Given the description of an element on the screen output the (x, y) to click on. 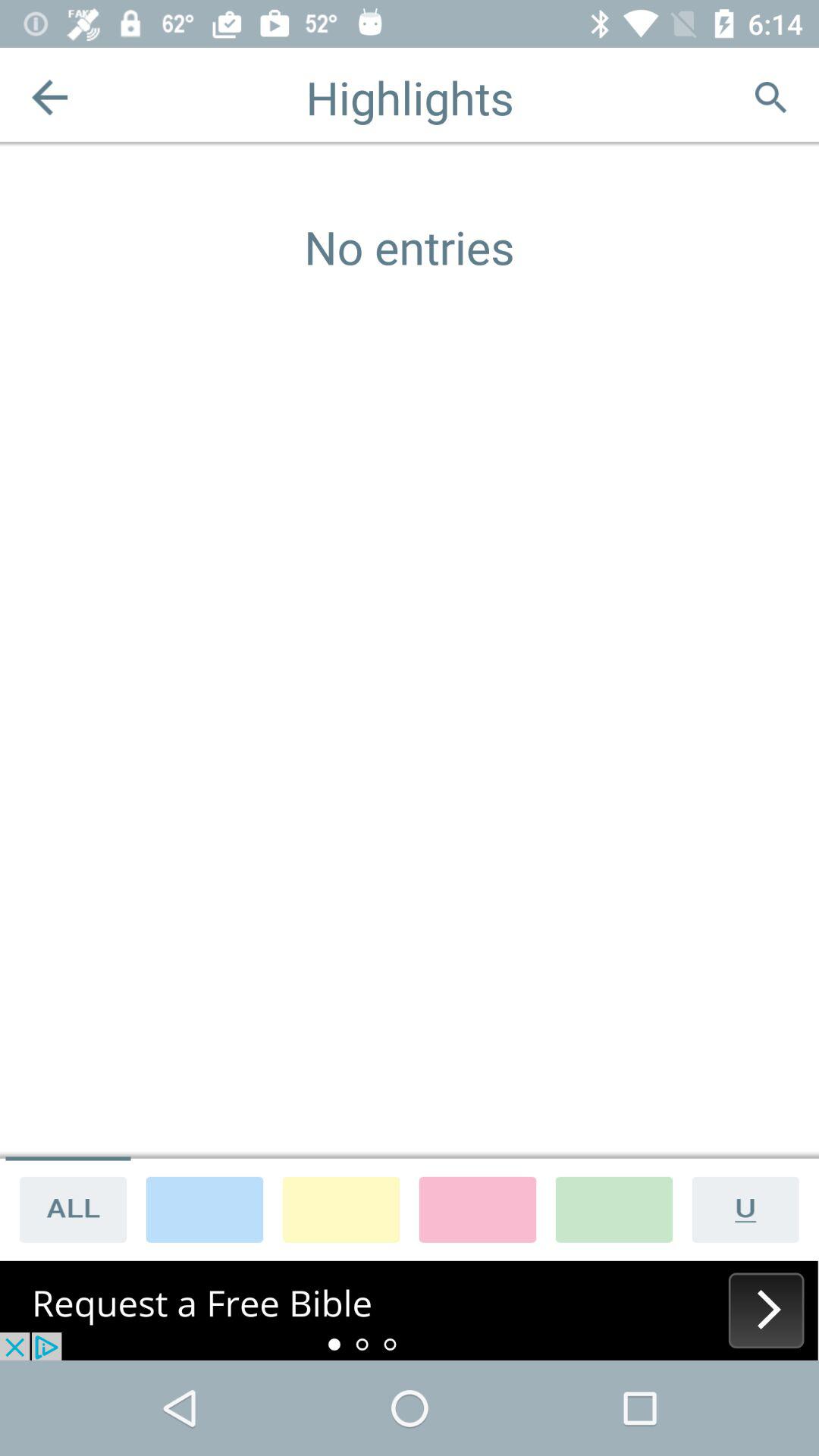
toggle underline text option (750, 1208)
